Given the description of an element on the screen output the (x, y) to click on. 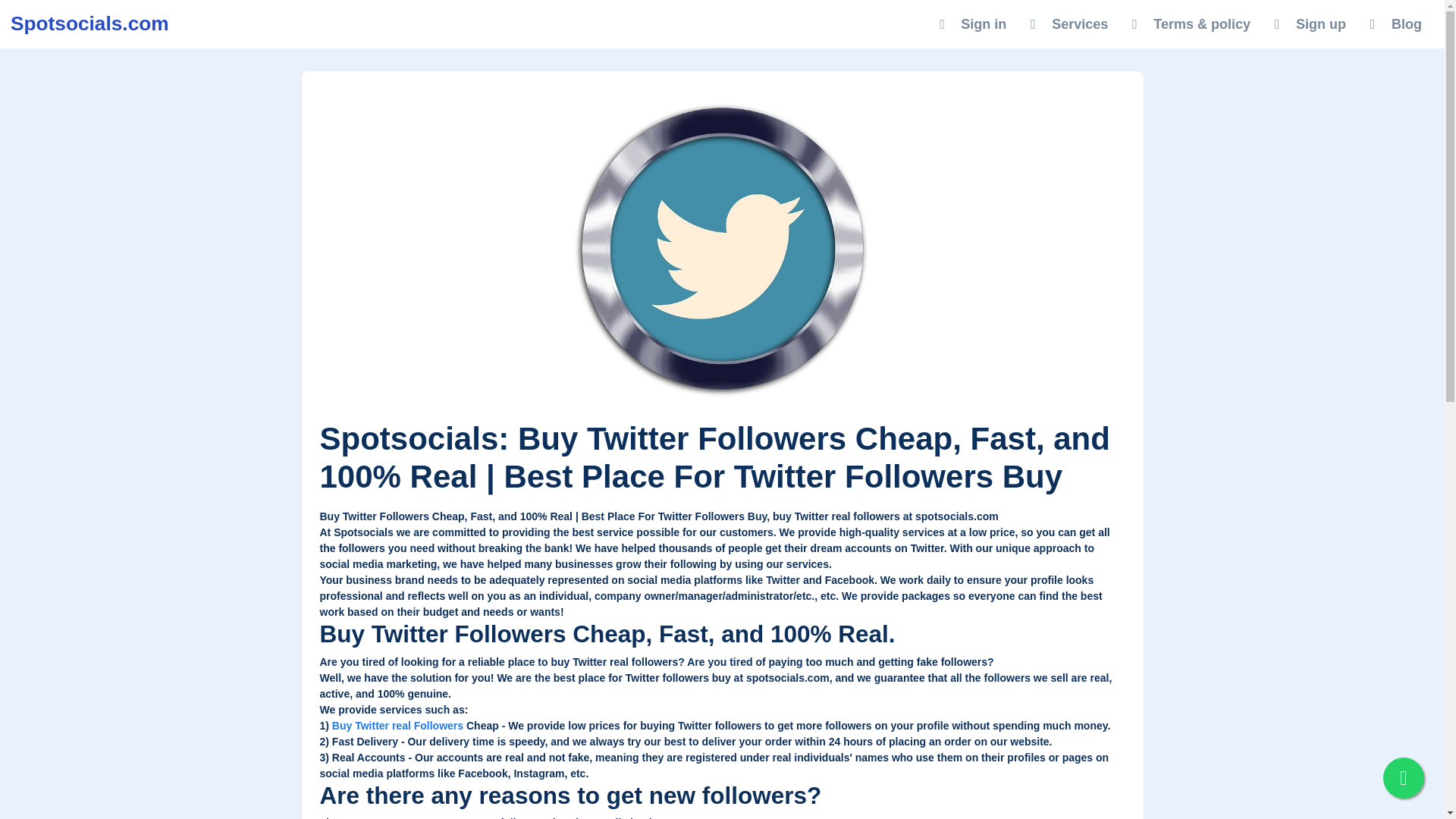
Services (1068, 23)
Blog (1396, 23)
Sign in (972, 23)
Spotsocials.com (89, 23)
Sign up (1310, 23)
Buy Twitter real Followers (397, 725)
